Given the description of an element on the screen output the (x, y) to click on. 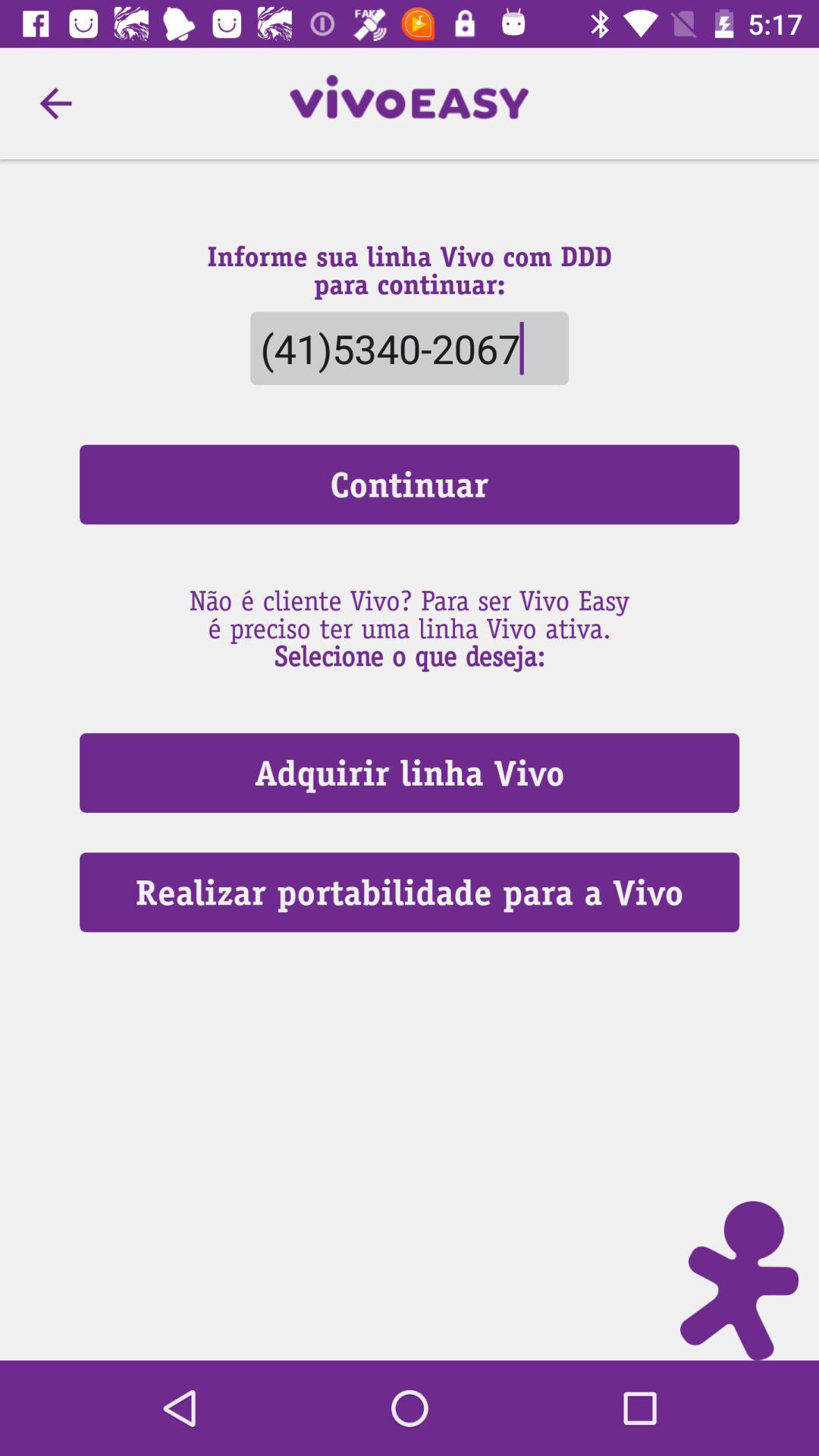
choose the icon at the top left corner (55, 103)
